Given the description of an element on the screen output the (x, y) to click on. 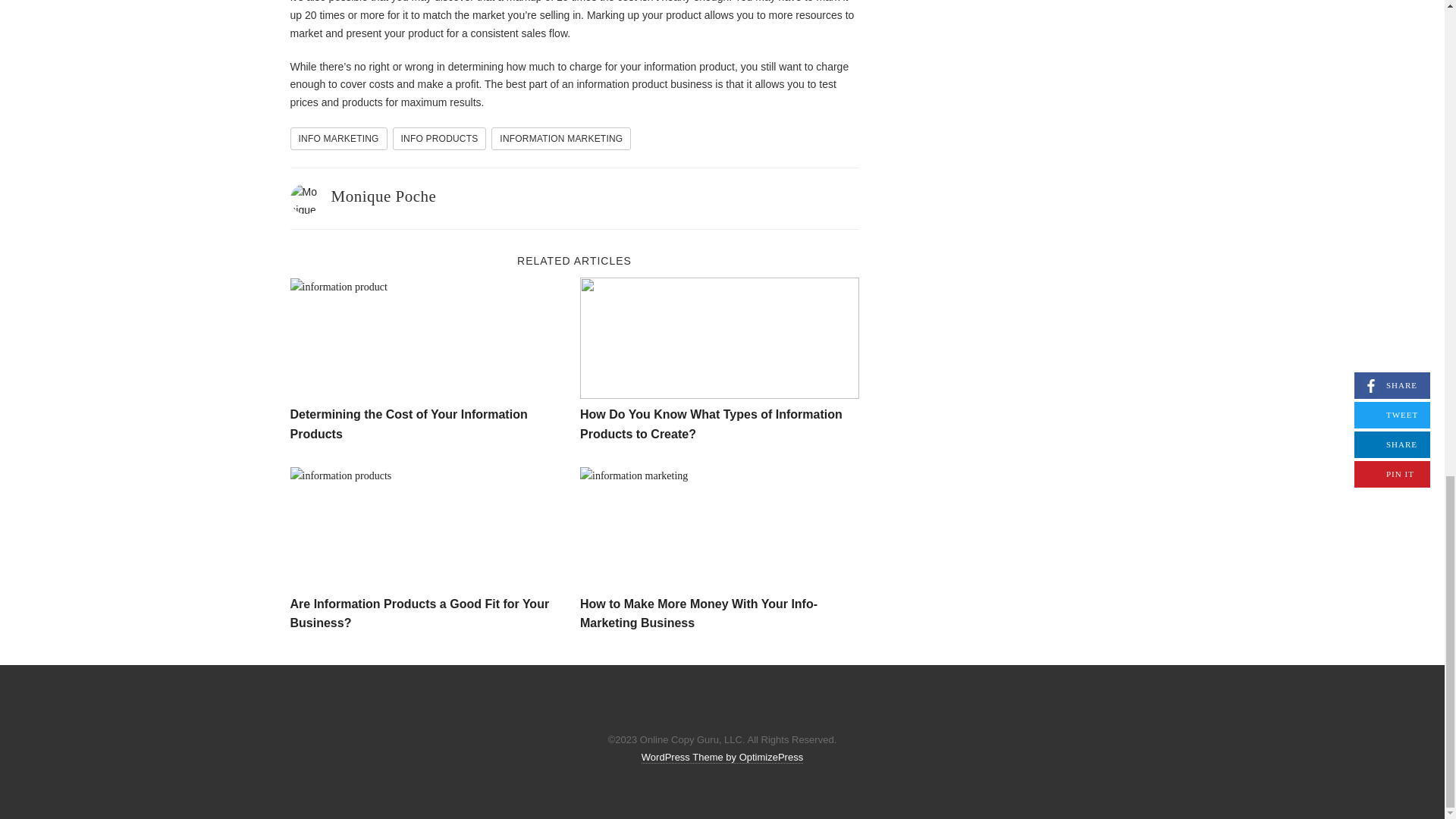
Monique Poche (382, 196)
How to Make More Money With Your Info-Marketing Business (697, 613)
INFO PRODUCTS (439, 138)
Determining the Cost of Your Information Products (408, 423)
INFORMATION MARKETING (561, 138)
Are Information Products a Good Fit for Your Business? (418, 613)
information marketing Tag (561, 138)
Determining the Cost of Your Information Products (429, 337)
Are Information Products a Good Fit for Your Business? (429, 527)
